Given the description of an element on the screen output the (x, y) to click on. 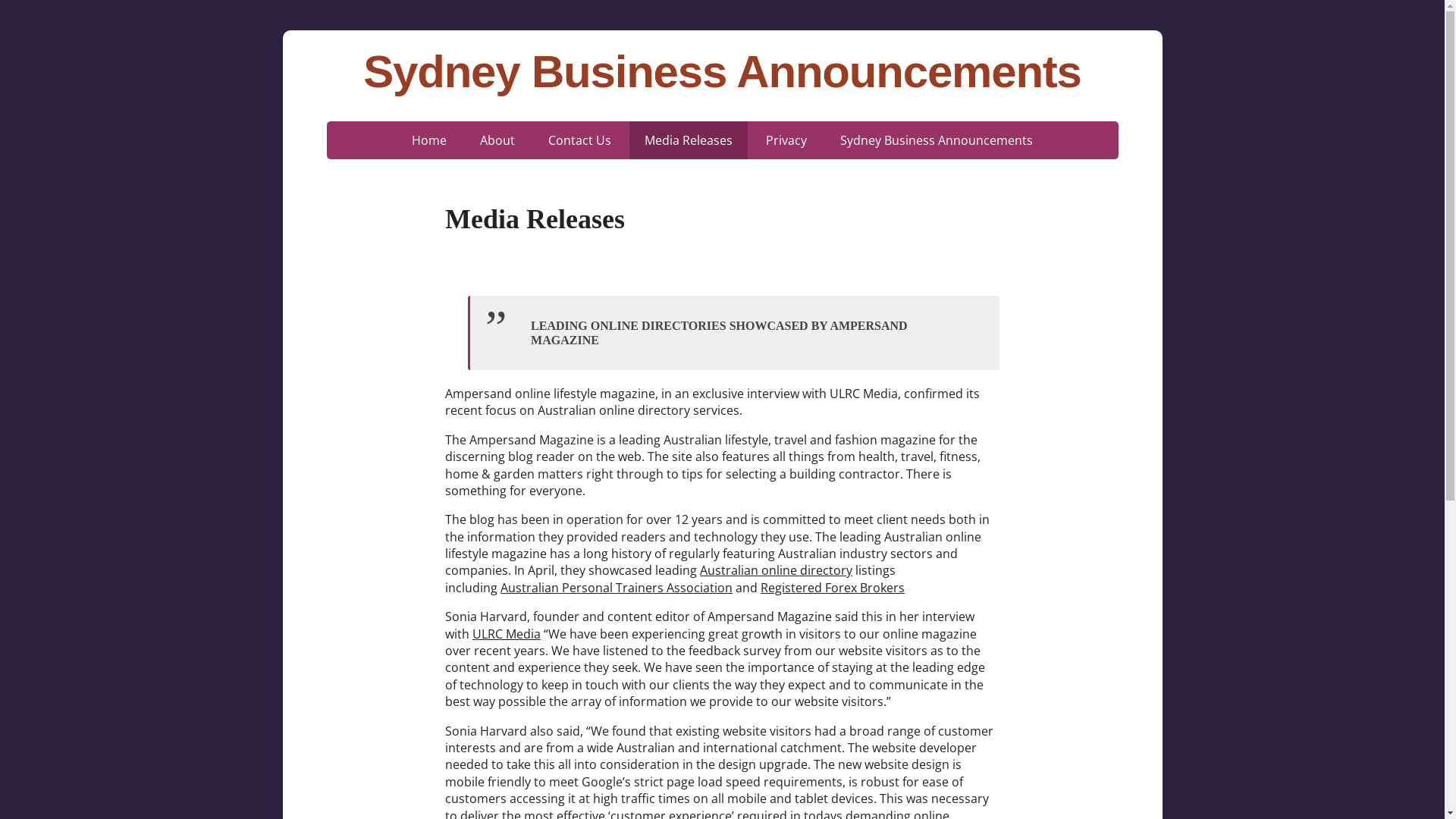
Australian online directory Element type: text (775, 569)
Privacy Element type: text (786, 140)
Contact Us Element type: text (579, 140)
Media Releases Element type: text (688, 140)
Australian Personal Trainers Association Element type: text (616, 587)
Home Element type: text (428, 140)
Sydney Business Announcements Element type: text (721, 72)
Sydney Business Announcements Element type: text (936, 140)
About Element type: text (497, 140)
Registered Forex Brokers Element type: text (832, 587)
ULRC Media Element type: text (506, 633)
